Given the description of an element on the screen output the (x, y) to click on. 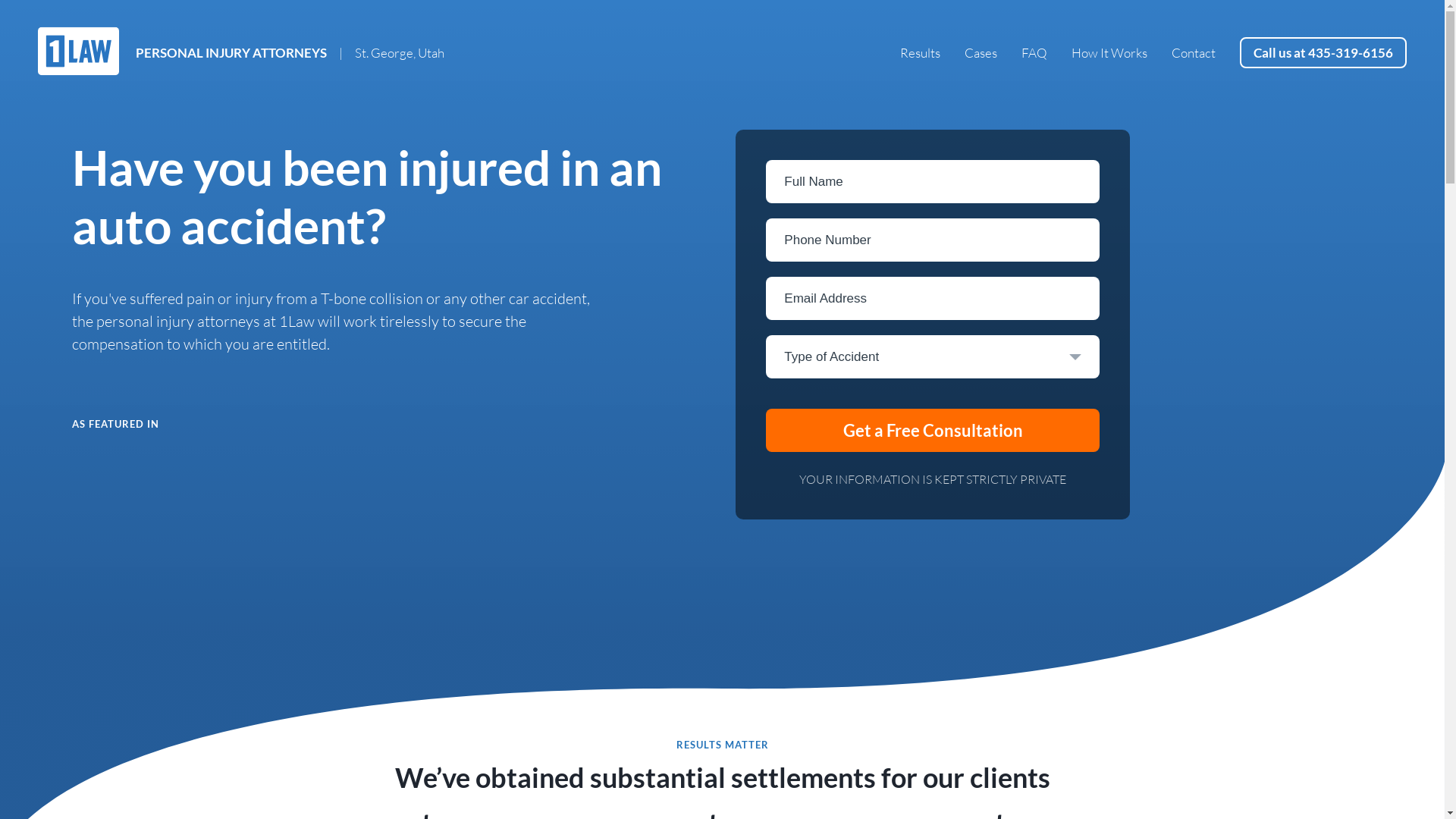
Results Element type: text (920, 52)
FAQ Element type: text (1034, 52)
Contact Element type: text (1193, 52)
Cases Element type: text (980, 52)
How It Works Element type: text (1109, 52)
Get a Free Consultation Element type: text (932, 429)
Call us at 435-319-6156 Element type: text (1323, 52)
